Given the description of an element on the screen output the (x, y) to click on. 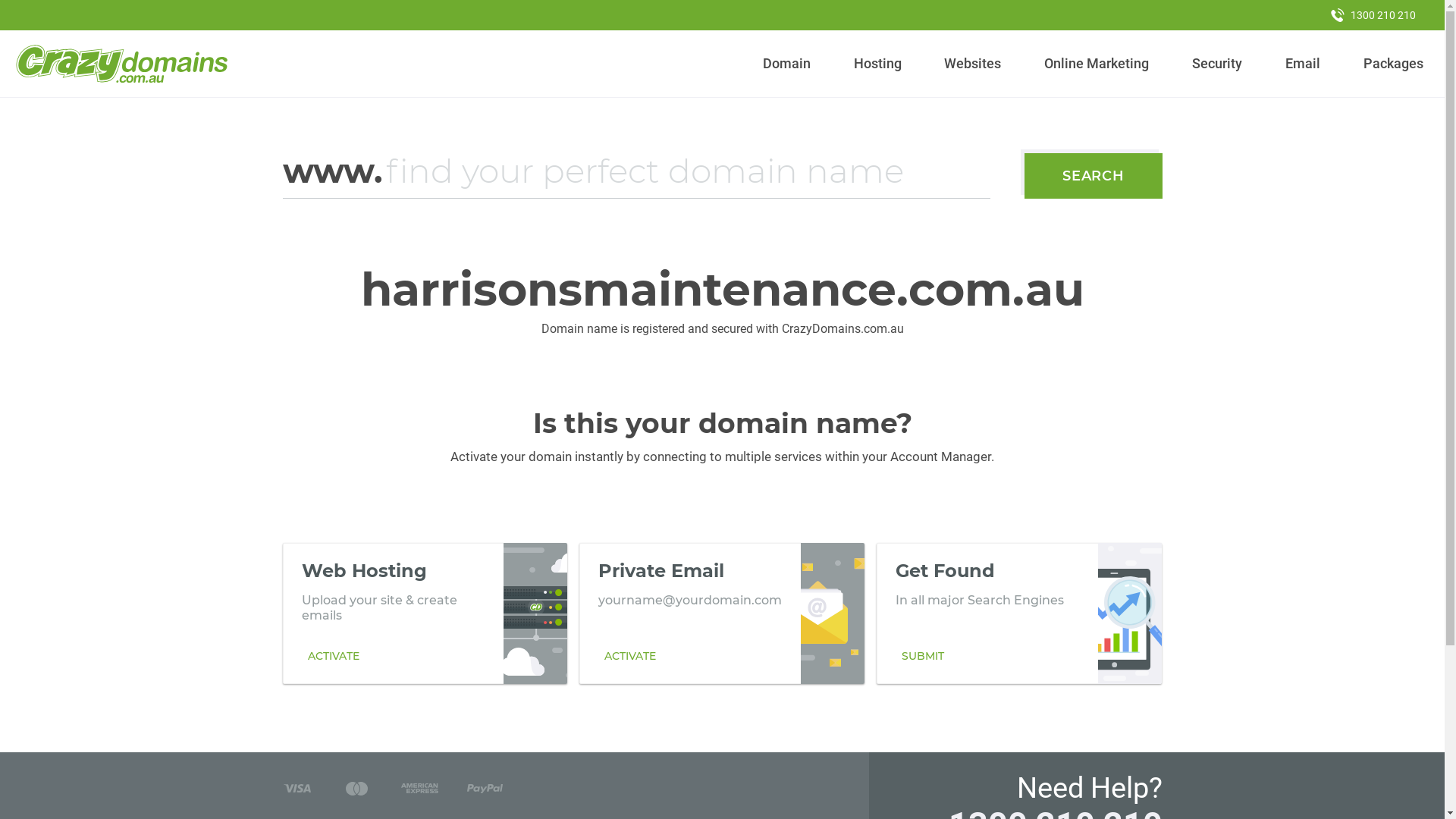
Websites Element type: text (972, 63)
Online Marketing Element type: text (1096, 63)
Security Element type: text (1217, 63)
Private Email
yourname@yourdomain.com
ACTIVATE Element type: text (721, 613)
Web Hosting
Upload your site & create emails
ACTIVATE Element type: text (424, 613)
1300 210 210 Element type: text (1373, 15)
SEARCH Element type: text (1092, 175)
Packages Element type: text (1392, 63)
Domain Element type: text (786, 63)
Get Found
In all major Search Engines
SUBMIT Element type: text (1018, 613)
Email Element type: text (1302, 63)
Hosting Element type: text (877, 63)
